Given the description of an element on the screen output the (x, y) to click on. 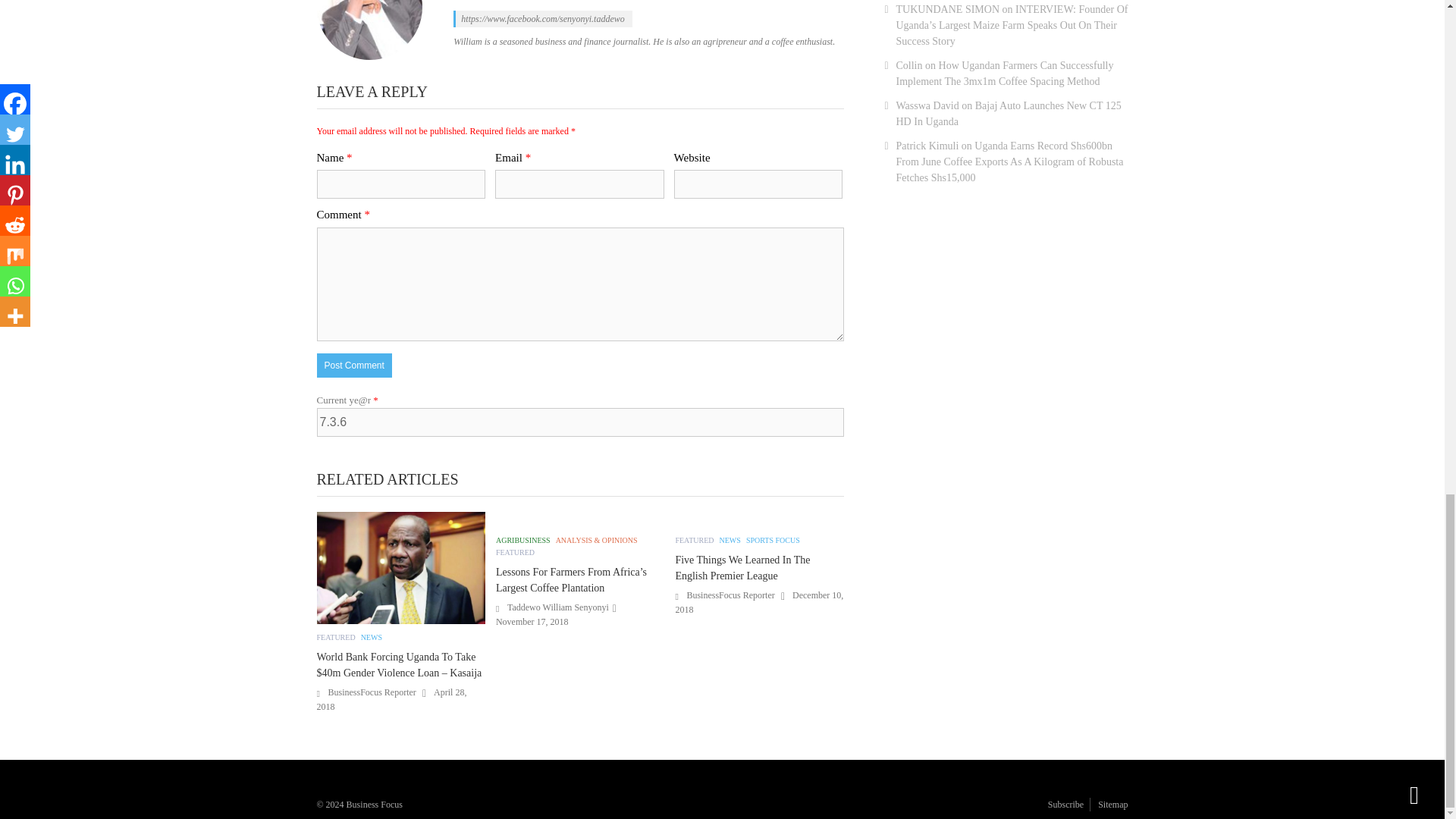
Post Comment (354, 364)
7.3.6 (580, 421)
